Given the description of an element on the screen output the (x, y) to click on. 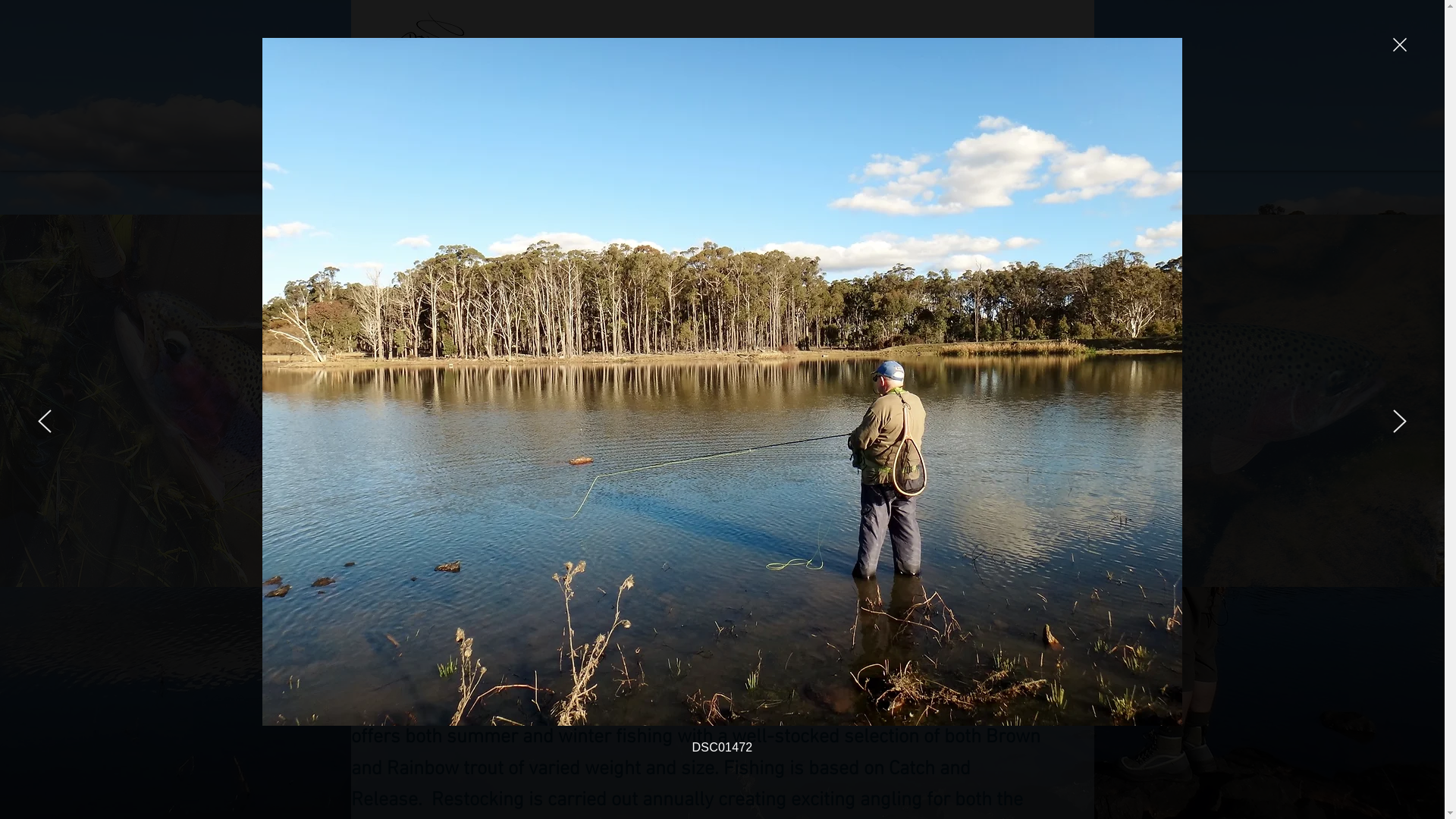
Home Element type: text (377, 152)
Textures of Dunmore Element type: text (817, 152)
Contact Element type: text (1008, 152)
About our Fishery Element type: text (463, 152)
Dunmore Element type: text (620, 84)
Fishing Element type: text (552, 152)
Map Element type: text (1066, 152)
Gallery Element type: text (722, 152)
Tariffs / Rates Element type: text (928, 152)
Accommodation Element type: text (638, 152)
